Given the description of an element on the screen output the (x, y) to click on. 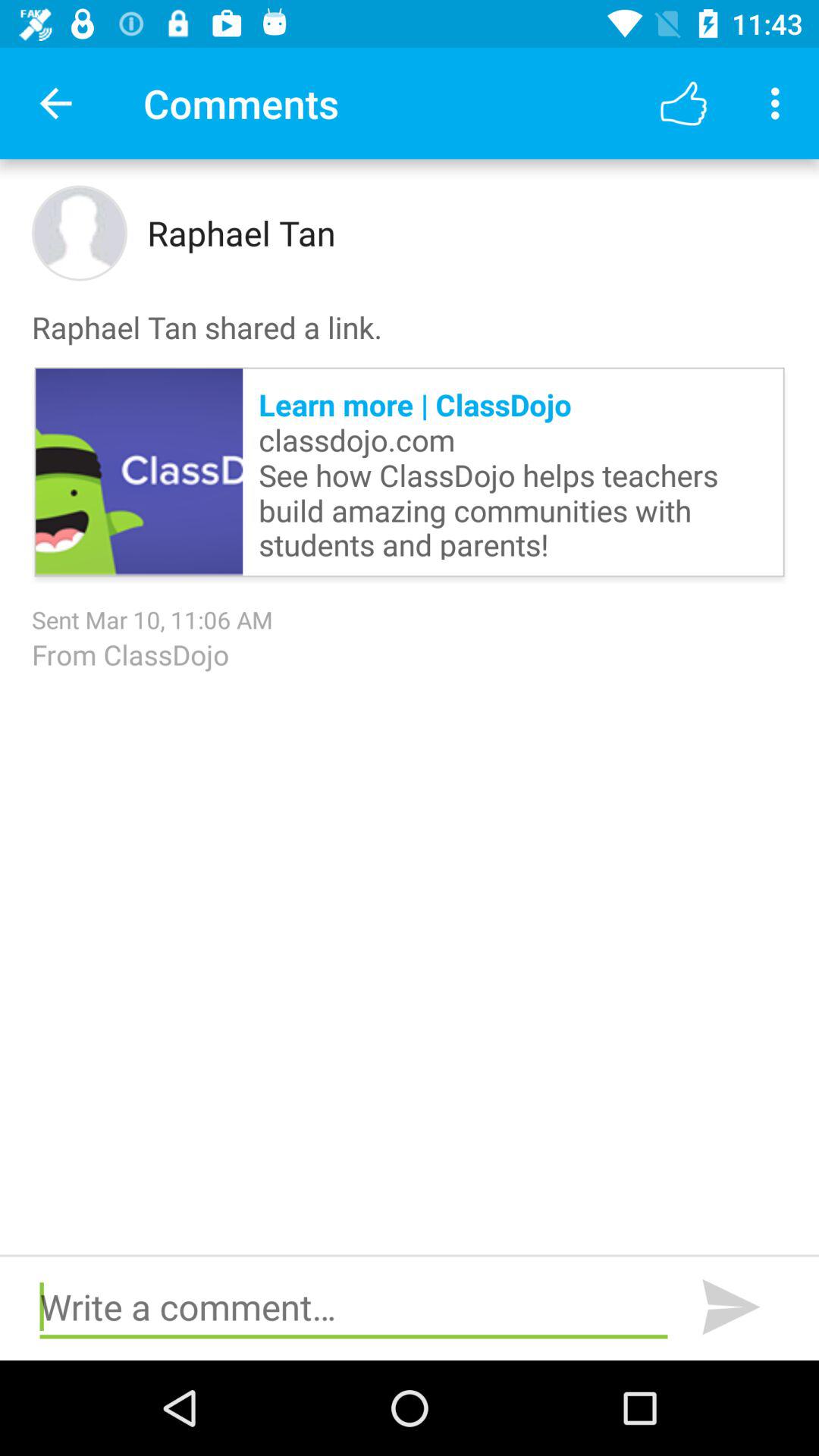
open icon above raphael tan shared item (683, 103)
